Given the description of an element on the screen output the (x, y) to click on. 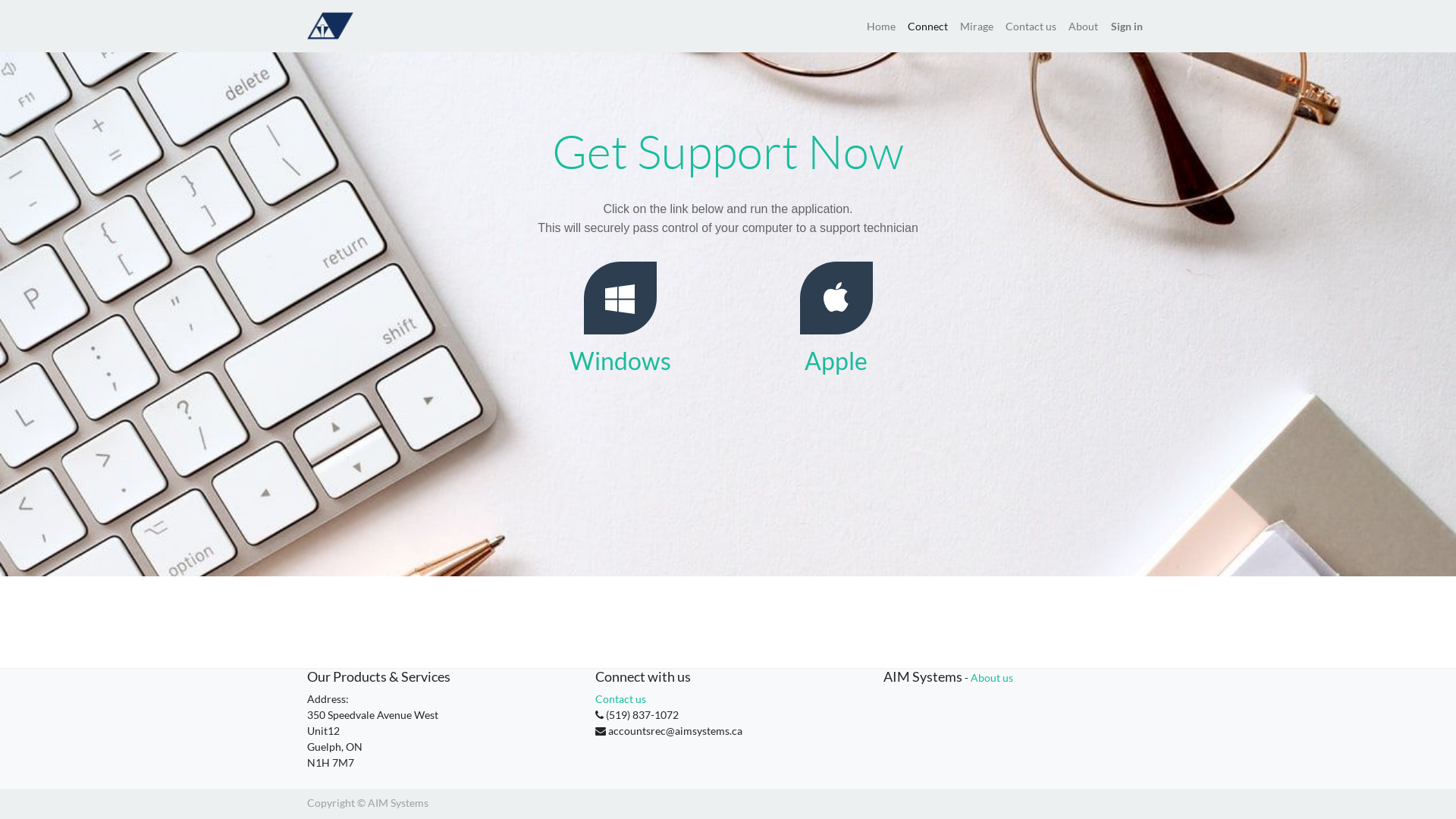
Apple Element type: text (835, 360)
Contact us Element type: text (1030, 26)
About Element type: text (1083, 26)
Connect Element type: text (927, 26)
Mirage Element type: text (976, 26)
Contact us Element type: text (620, 698)
Windows Element type: text (619, 360)
Home Element type: text (880, 26)
About us Element type: text (991, 677)
AIM Systems Element type: hover (330, 24)
Sign in Element type: text (1126, 26)
